Given the description of an element on the screen output the (x, y) to click on. 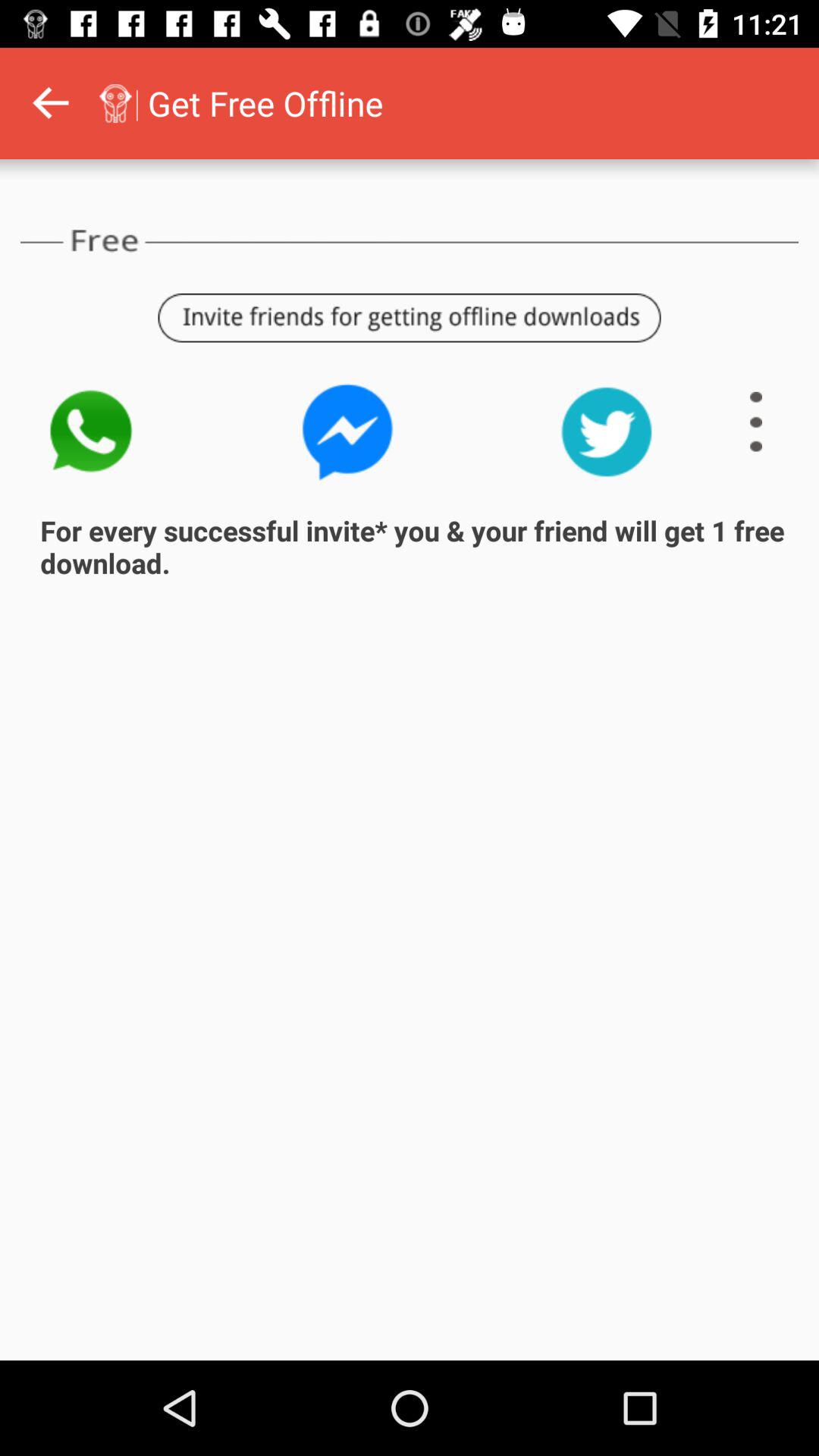
call using whatsapp (89, 431)
